Given the description of an element on the screen output the (x, y) to click on. 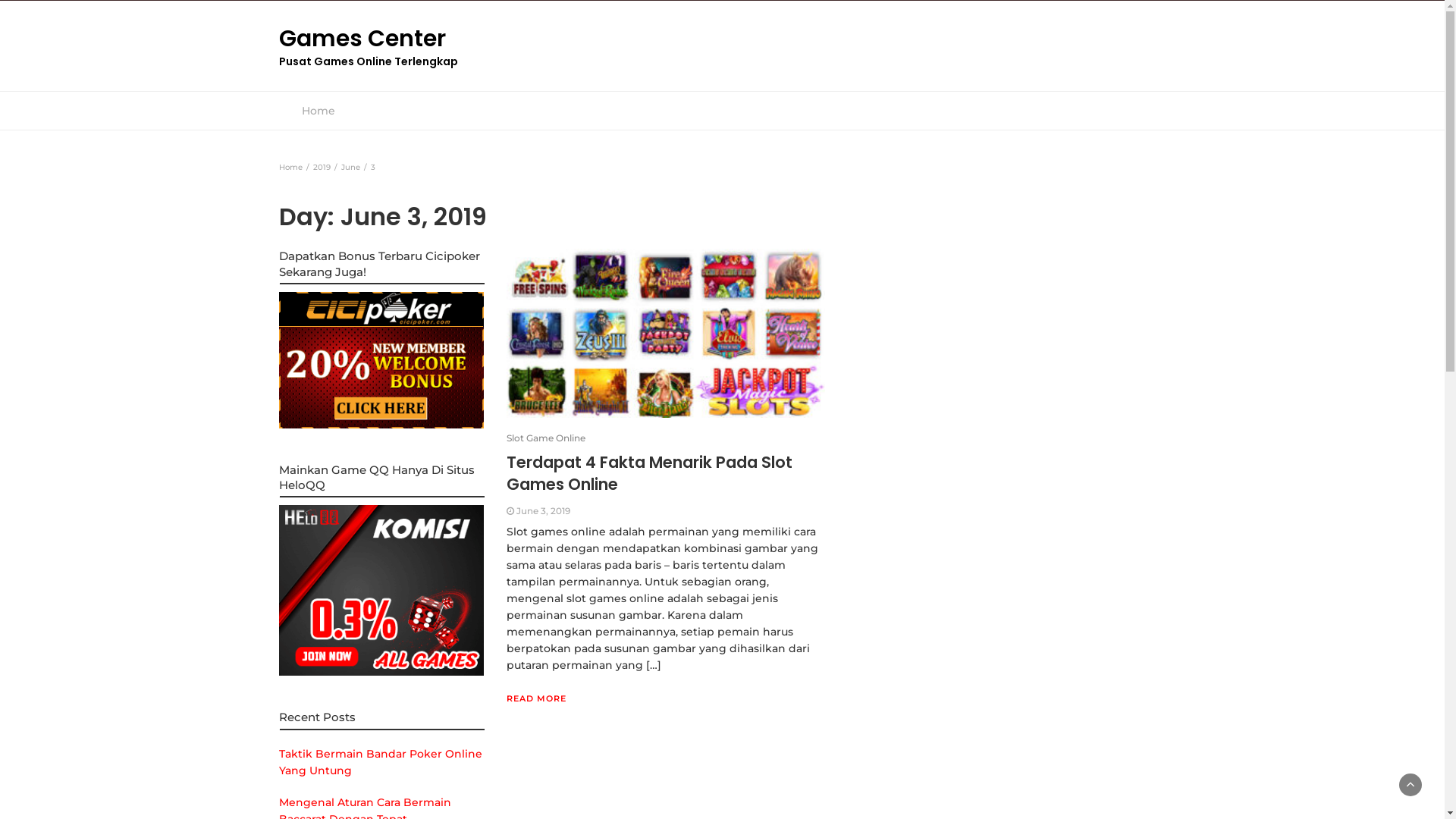
2019 Element type: text (321, 167)
READ MORE Element type: text (536, 698)
Taktik Bermain Bandar Poker Online Yang Untung Element type: text (380, 761)
Terdapat 4 Fakta Menarik Pada Slot Games Online Element type: text (649, 472)
June 3, 2019 Element type: text (542, 510)
Games Center
Pusat Games Online Terlengkap Element type: text (419, 45)
June Element type: text (350, 167)
Home Element type: text (290, 167)
Home Element type: text (317, 110)
Slot Game Online Element type: text (545, 437)
